Given the description of an element on the screen output the (x, y) to click on. 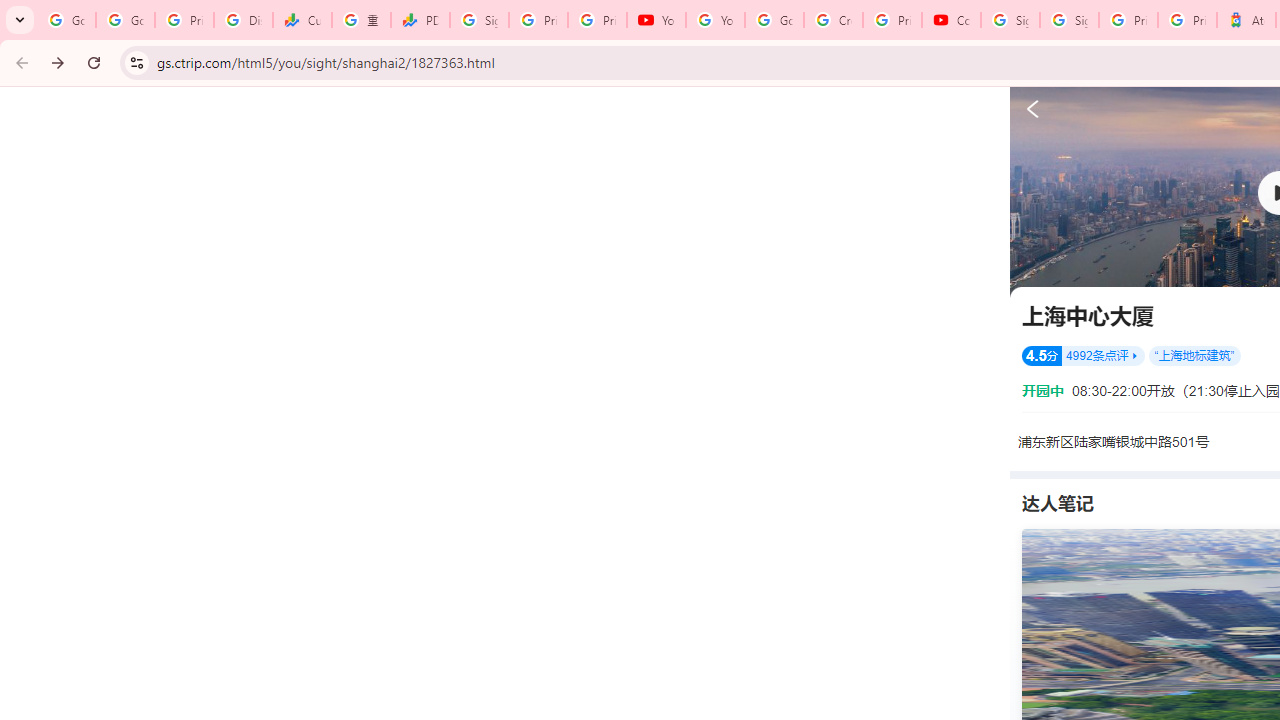
YouTube (715, 20)
Sign in - Google Accounts (479, 20)
Sign in - Google Accounts (1069, 20)
Create your Google Account (832, 20)
Content Creator Programs & Opportunities - YouTube Creators (950, 20)
Currencies - Google Finance (301, 20)
Sign in - Google Accounts (1010, 20)
